Given the description of an element on the screen output the (x, y) to click on. 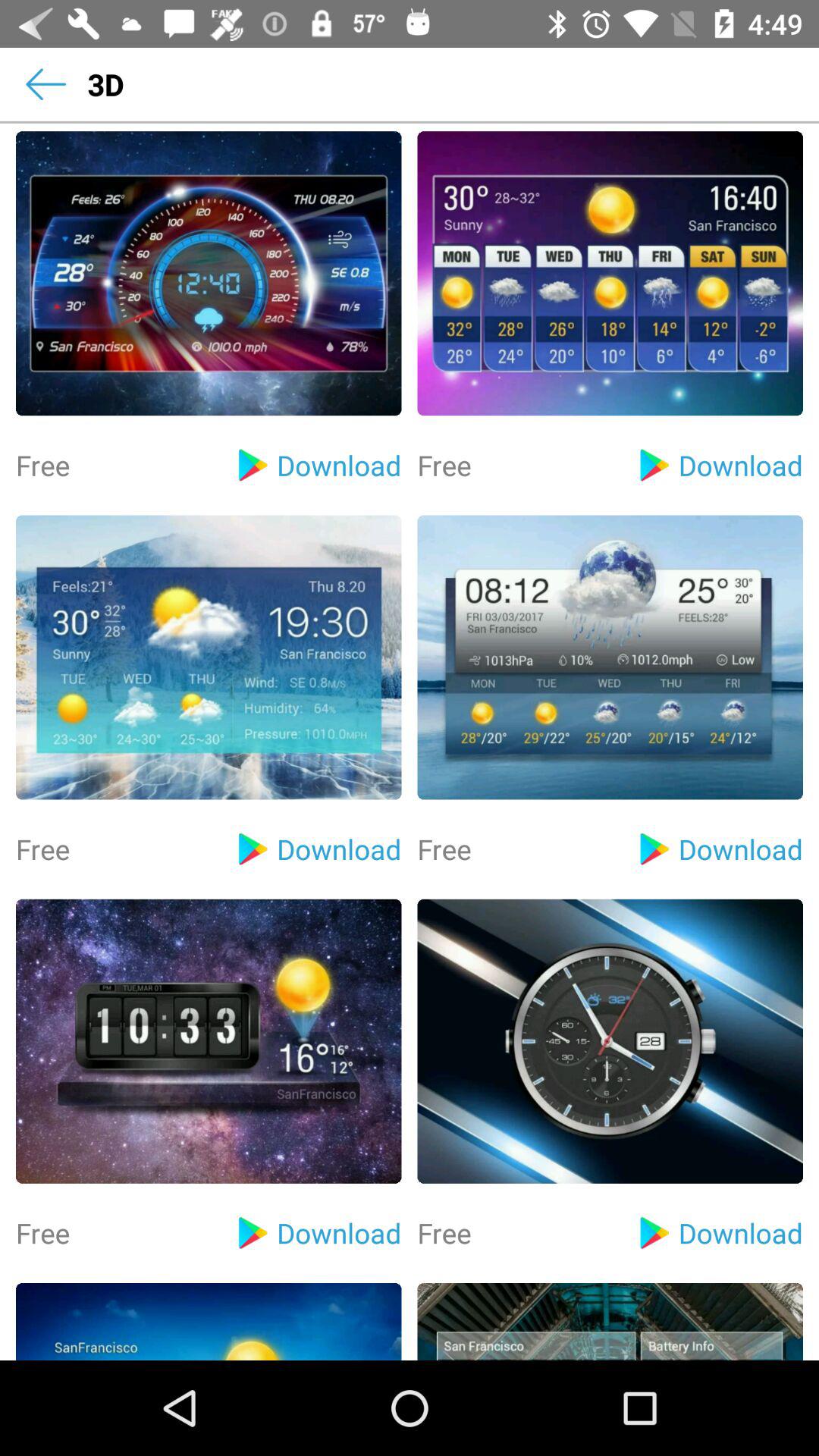
turn off the item next to the 3d item (45, 84)
